Given the description of an element on the screen output the (x, y) to click on. 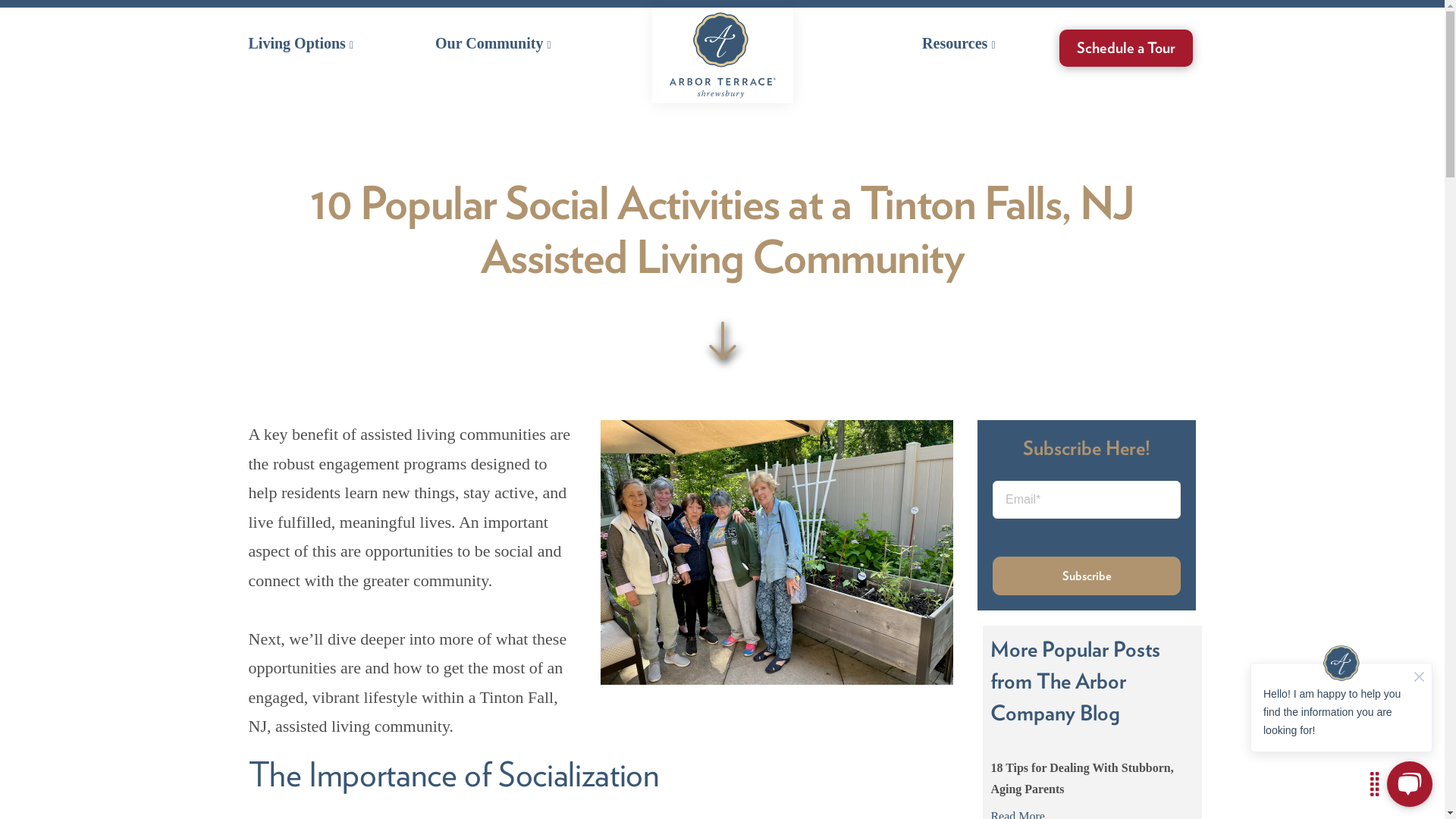
Schedule a Tour (1125, 47)
Living Options (300, 43)
Subscribe (1086, 576)
Scroll to next section (722, 340)
Schedule a Tour (1125, 47)
Scroll to next section (722, 340)
The Arbor Company Blog (1057, 696)
18 Tips for Dealing With Stubborn, Aging Parents (1081, 778)
Resources (957, 43)
Our Community (493, 43)
Read More (1091, 812)
Subscribe (1086, 576)
